Given the description of an element on the screen output the (x, y) to click on. 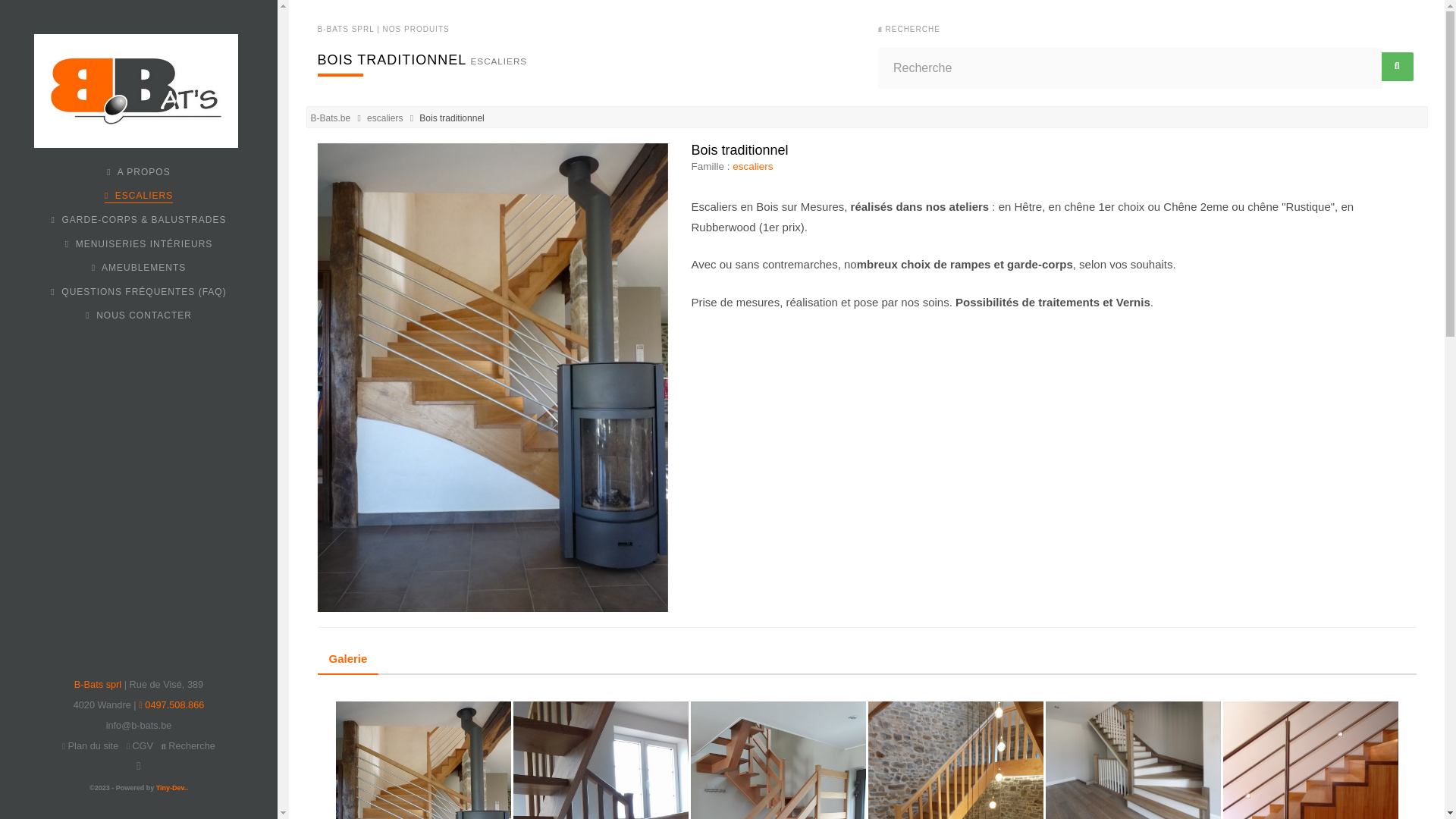
  GARDE-CORPS & BALUSTRADES Element type: text (137, 219)
escaliers Element type: text (384, 117)
B-Bats.be Element type: text (330, 117)
escaliers Element type: text (752, 166)
Galerie Element type: text (347, 658)
Tiny-Dev.. Element type: text (172, 787)
  ESCALIERS Element type: text (138, 195)
Recherche Element type: text (188, 745)
0497.508.866 Element type: text (170, 704)
CGV Element type: text (139, 745)
Plan du site Element type: text (90, 745)
Facebook - B-Bats sprl Element type: hover (138, 765)
  AMEUBLEMENTS Element type: text (138, 267)
B-Bats sprl Element type: text (97, 684)
  A PROPOS Element type: text (137, 172)
  NOUS CONTACTER Element type: text (138, 315)
